Given the description of an element on the screen output the (x, y) to click on. 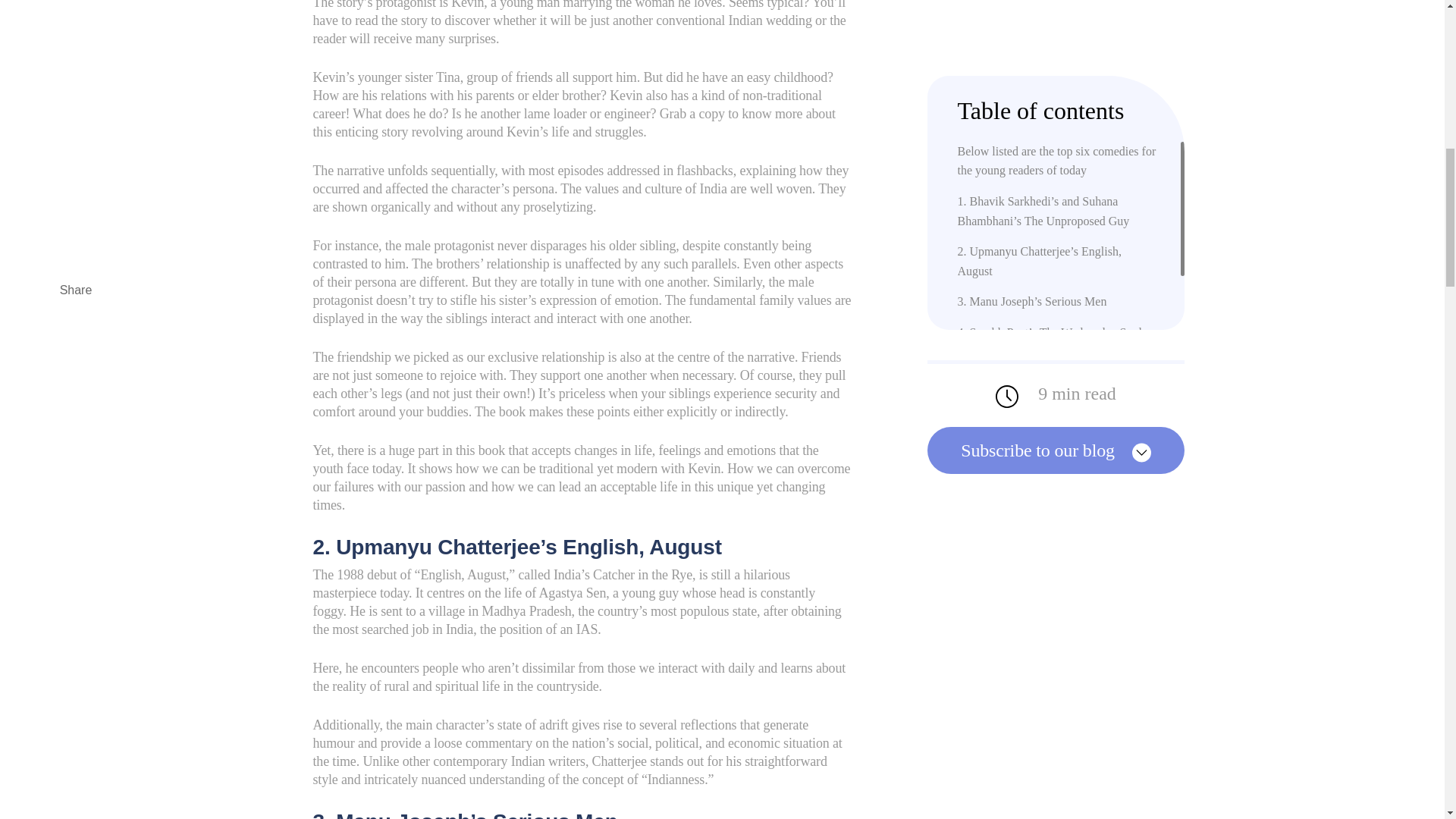
Subscribe to our blog (1055, 152)
Get Your SOP right! with us (1025, 127)
Our Prestigious Premium Clientele Across the Globe (1041, 217)
